Given the description of an element on the screen output the (x, y) to click on. 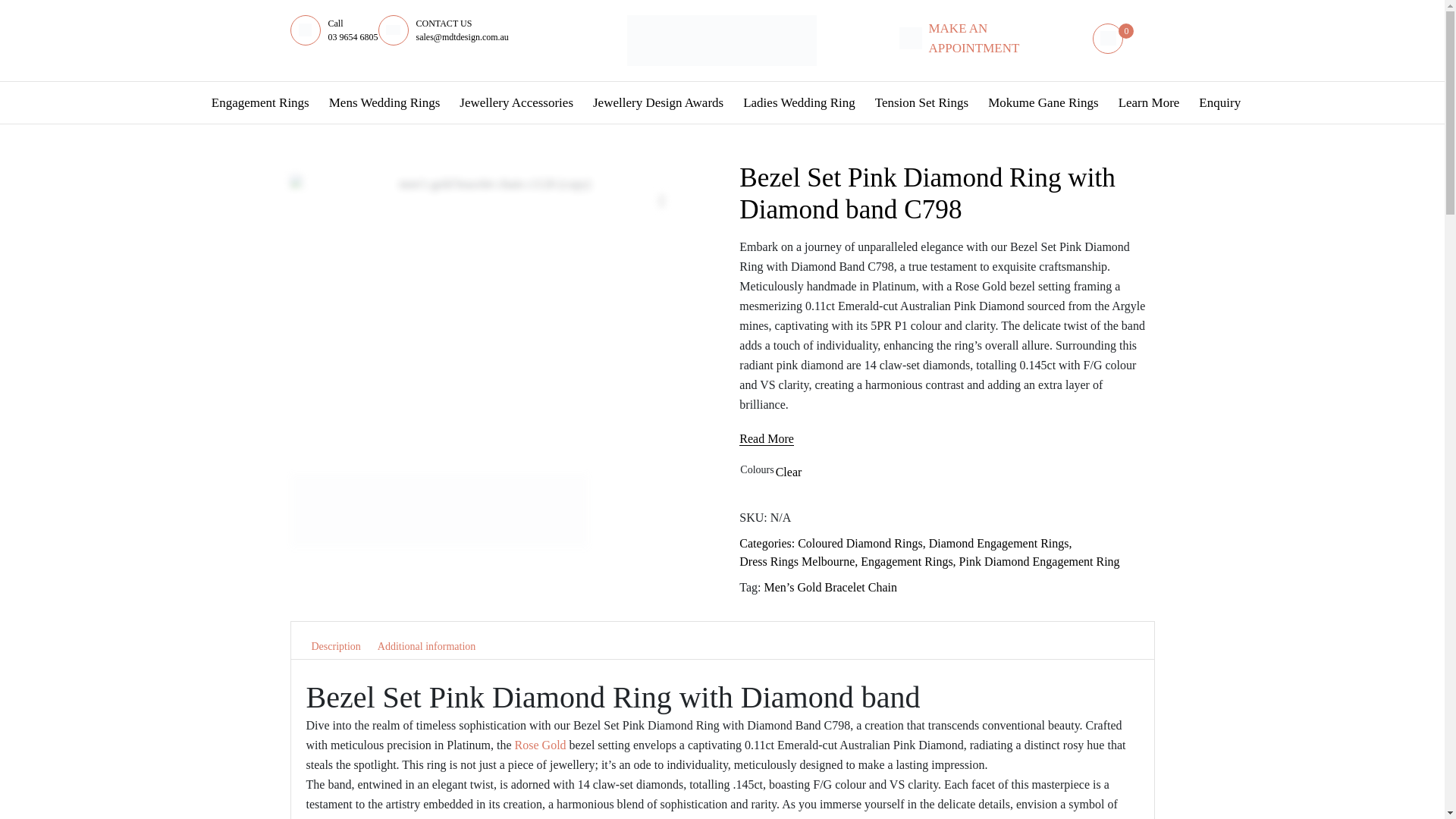
Mokume Gane Rings (1042, 102)
Tension Set Rings (921, 102)
Mens Wedding Rings (384, 102)
Jewellery Accessories (515, 102)
bezel set pink diamond ring with diamond band c798 (538, 510)
Engagement Rings (260, 102)
Learn More (1149, 102)
Jewellery Design Awards (657, 102)
bezel set pink diamond ring with diamond band c798 (439, 510)
MAKE AN APPOINTMENT (994, 37)
